Given the description of an element on the screen output the (x, y) to click on. 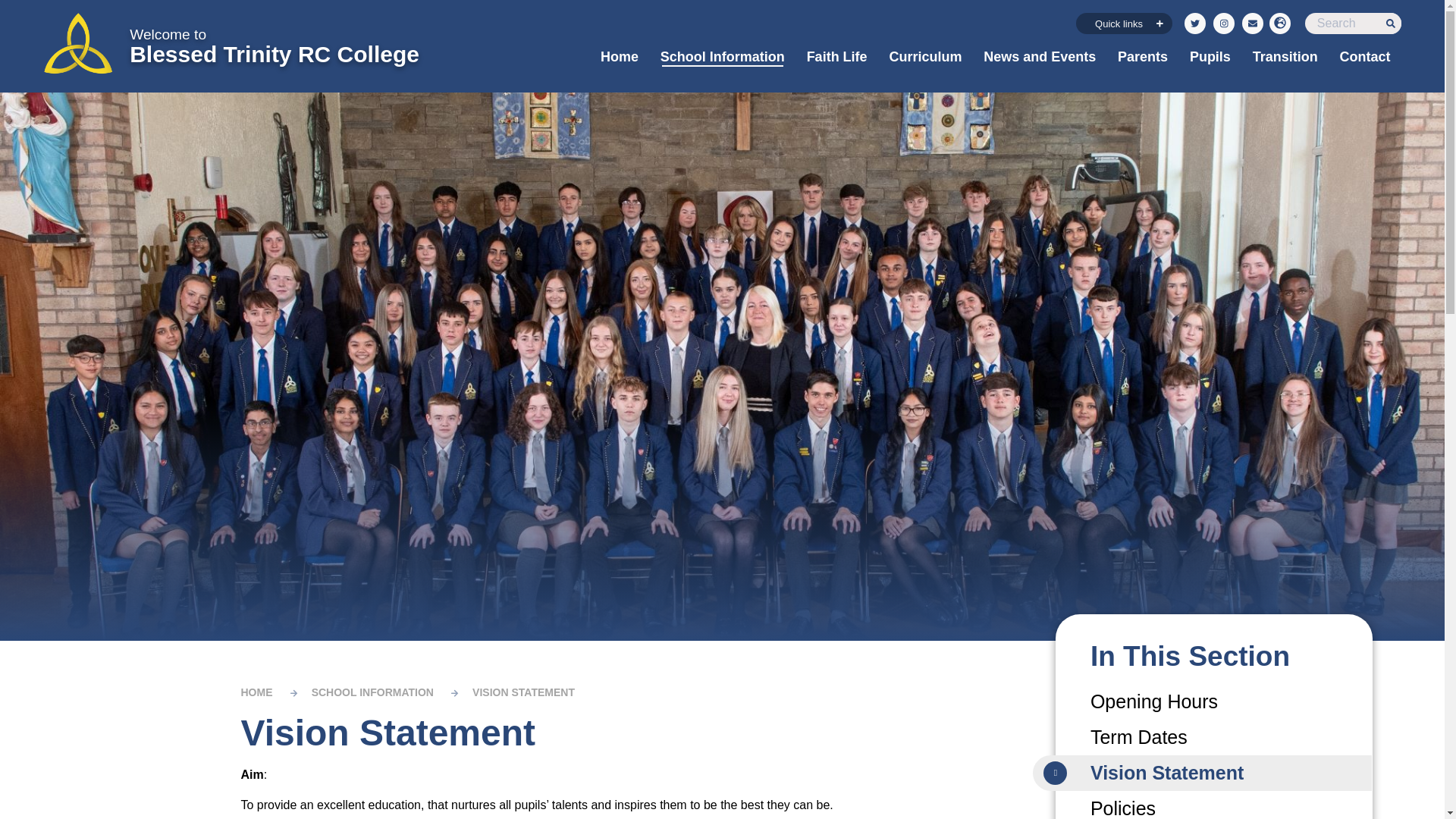
search (1352, 23)
Faith Life (835, 56)
School Information (721, 56)
Quick links (1123, 23)
Home (619, 56)
